Given the description of an element on the screen output the (x, y) to click on. 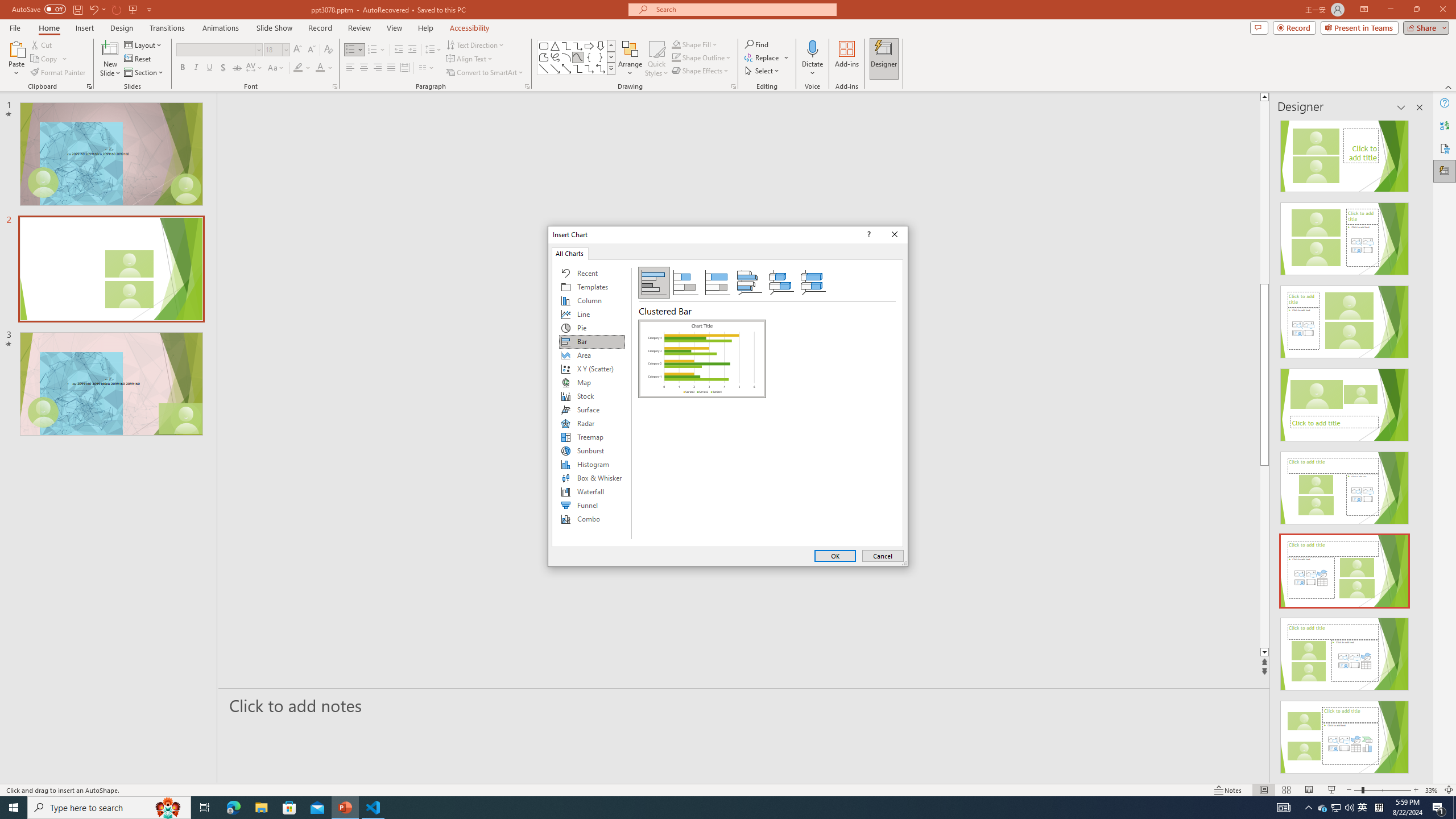
Arrange (630, 58)
Surface (591, 409)
Align Text (470, 58)
Histogram (591, 464)
Templates (591, 287)
Cancel (882, 555)
Paragraph... (526, 85)
Columns (426, 67)
Recommended Design: Design Idea (1344, 152)
